Given the description of an element on the screen output the (x, y) to click on. 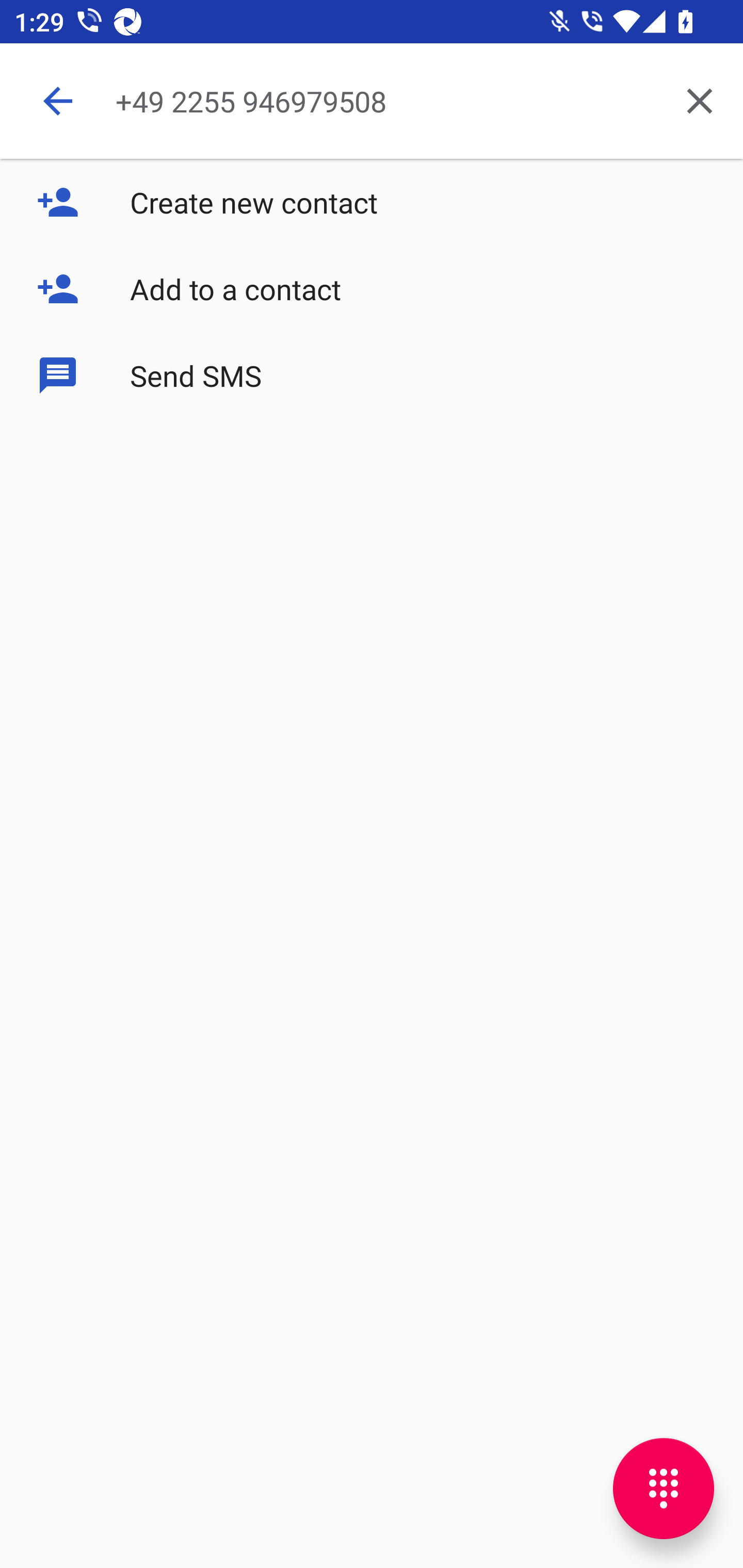
stop searching +49 2255 946979508 Clear search (371, 100)
stop searching (57, 101)
+49 2255 946979508 (385, 101)
Clear search (699, 101)
Create new contact (371, 202)
Add to a contact (371, 289)
Send SMS (371, 375)
key pad (663, 1488)
